Given the description of an element on the screen output the (x, y) to click on. 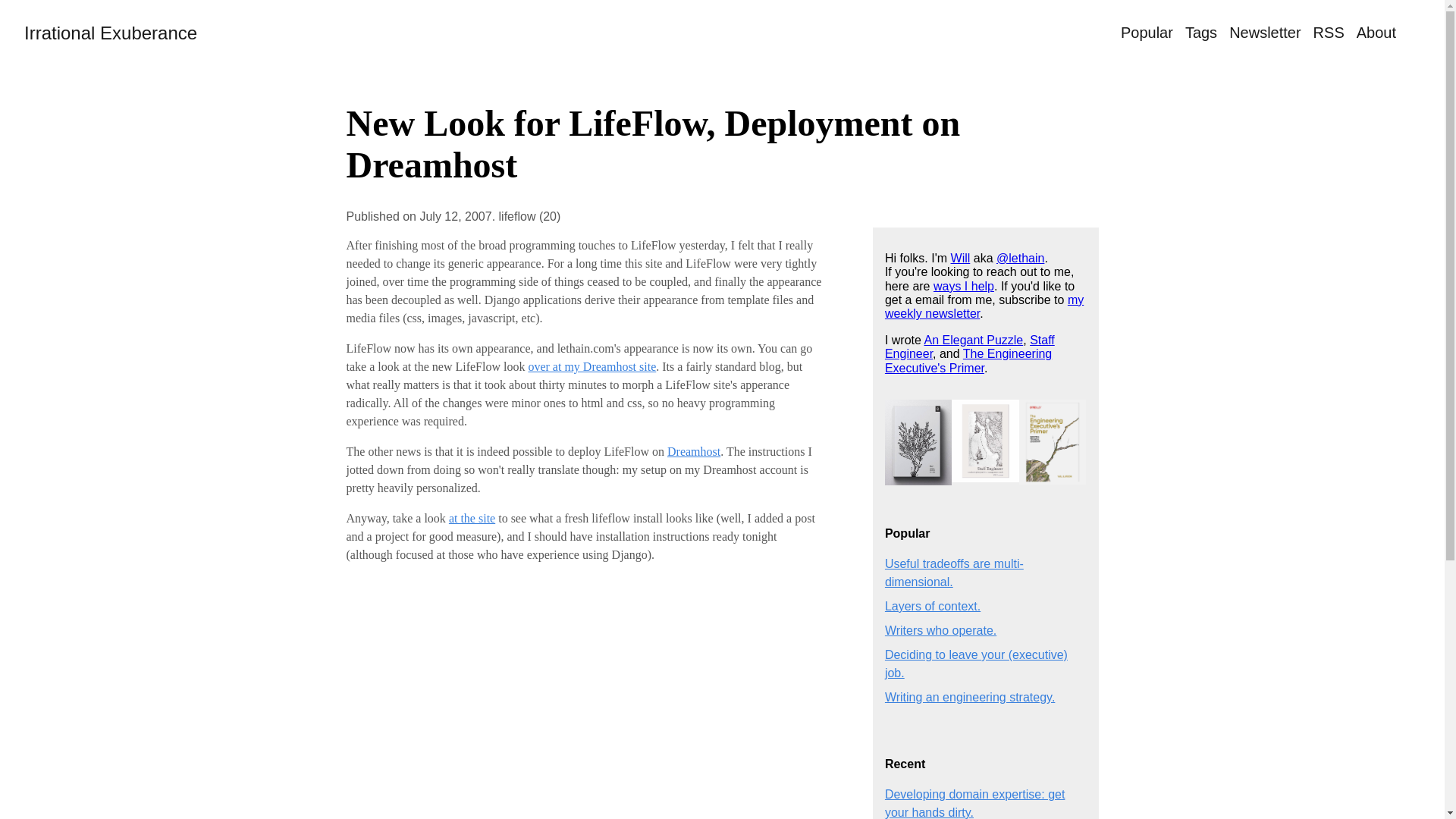
my weekly newsletter (984, 306)
Irrational Exuberance (110, 33)
Newsletter page (1264, 32)
Staff Engineer (969, 346)
Tags page (1201, 32)
Deployed LifeFlow Example (591, 366)
Useful tradeoffs are multi-dimensional. (954, 572)
over at my Dreamhost site (591, 366)
Popular page (1147, 32)
About page (1376, 32)
About (1376, 32)
Writers who operate. (940, 630)
Layers of context. (932, 605)
RSS (1328, 32)
Popular (1147, 32)
